Given the description of an element on the screen output the (x, y) to click on. 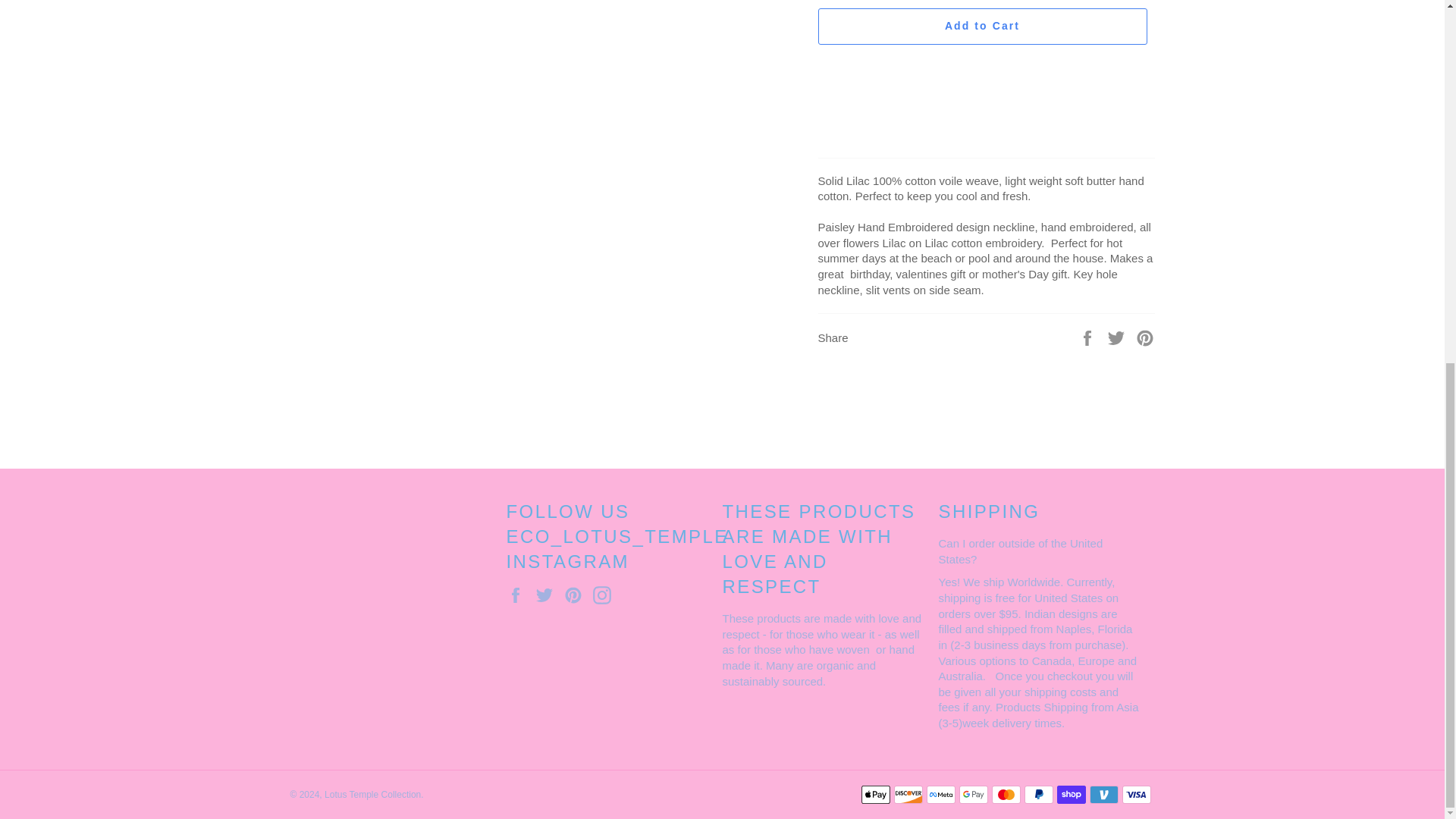
Tweet on Twitter (1117, 336)
Lotus Temple Collection on Twitter (547, 595)
Share on Facebook (1088, 336)
Lotus Temple Collection on Instagram (605, 595)
Lotus Temple Collection on Facebook (519, 595)
Pin on Pinterest (1144, 336)
Lotus Temple Collection on Pinterest (576, 595)
